Given the description of an element on the screen output the (x, y) to click on. 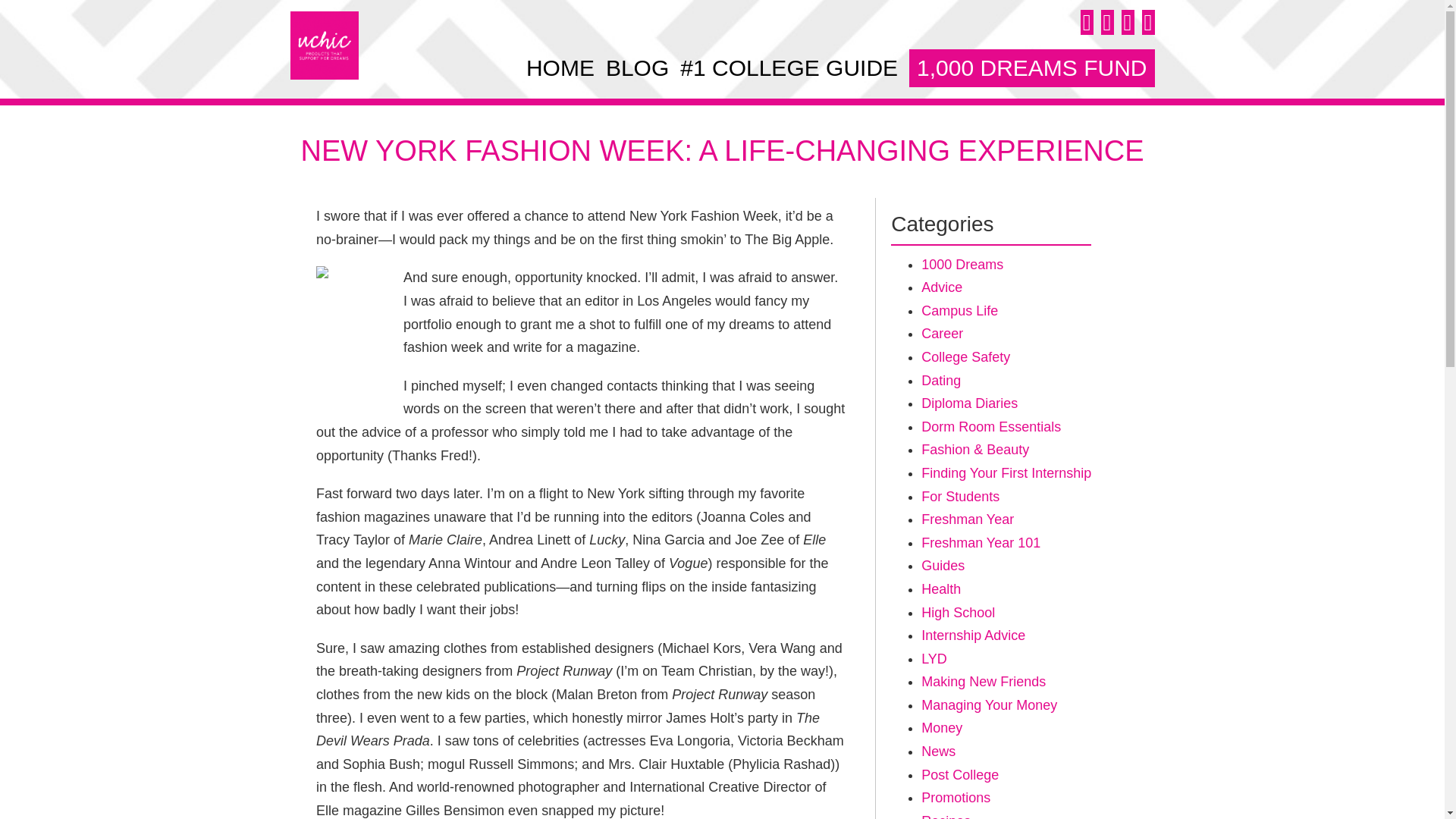
Home (559, 67)
Freshman Year (967, 519)
Recipes (946, 816)
Promotions (955, 797)
High School (957, 612)
College Safety (965, 356)
Campus Life (959, 310)
Money (941, 727)
UChic (323, 45)
Guides (942, 565)
